Given the description of an element on the screen output the (x, y) to click on. 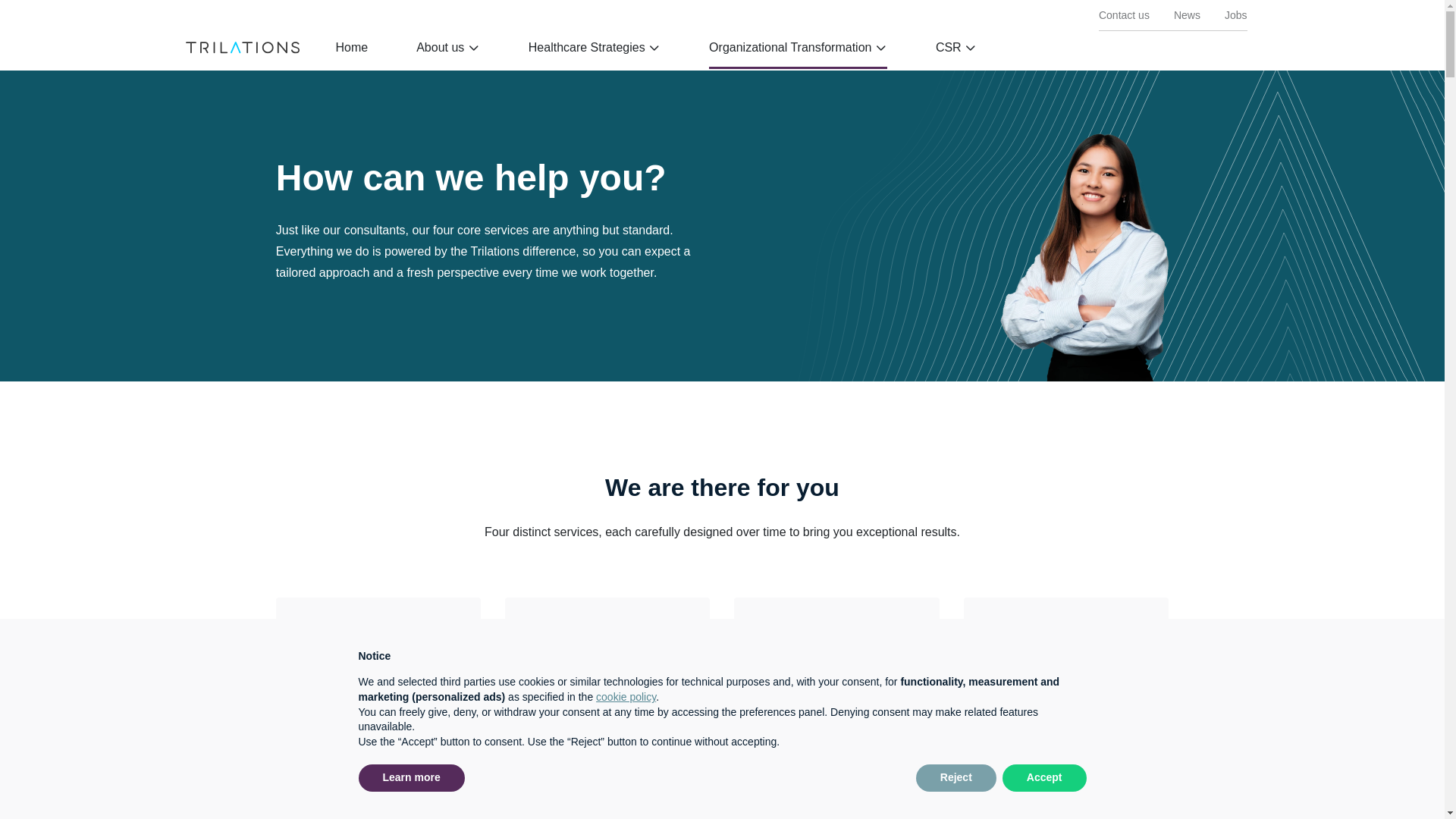
News (1187, 14)
Contact us (1124, 14)
Jobs (1235, 14)
Home (351, 53)
About us  (448, 53)
Organizational Transformation  (798, 53)
Healthcare Strategies  (594, 53)
CSR  (956, 53)
